Given the description of an element on the screen output the (x, y) to click on. 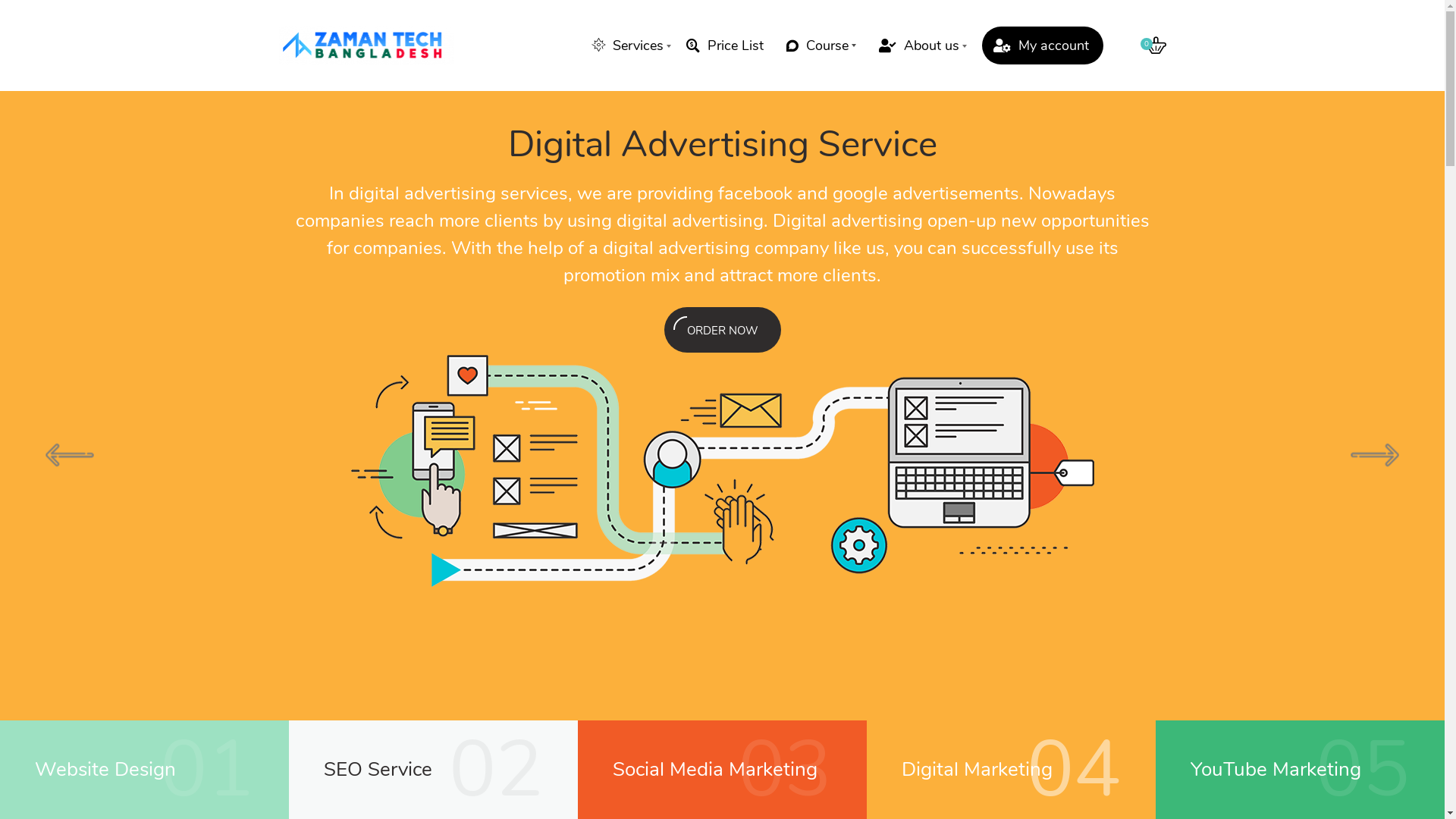
Services Element type: text (627, 45)
LEARN MORE Element type: text (494, 329)
LEARN MORE Element type: text (122, 553)
Facebook Monetization Element type: text (1011, 546)
LEARN MORE Element type: text (122, 498)
Facebook Marketing Element type: text (789, 546)
LEARN MORE Element type: text (566, 518)
Course Element type: text (820, 45)
YouTube Marketing Element type: text (786, 573)
0 Element type: text (1155, 45)
GET STARTED Element type: text (271, 498)
GET STARTED Element type: text (715, 518)
View your shopping cart Element type: hover (1155, 45)
SMM Panel Element type: text (983, 627)
Instagram Marketing Element type: text (790, 600)
Price List Element type: text (723, 45)
ORDER NOW Element type: text (722, 329)
My account Element type: text (1041, 45)
About us Element type: text (918, 45)
YouTube Monetization Element type: text (1009, 573)
OUR SERVICES Element type: text (273, 553)
Website Traffic Element type: text (777, 627)
YouTube Master Course Element type: text (1012, 600)
Terms & Policy Element type: text (693, 795)
